Given the description of an element on the screen output the (x, y) to click on. 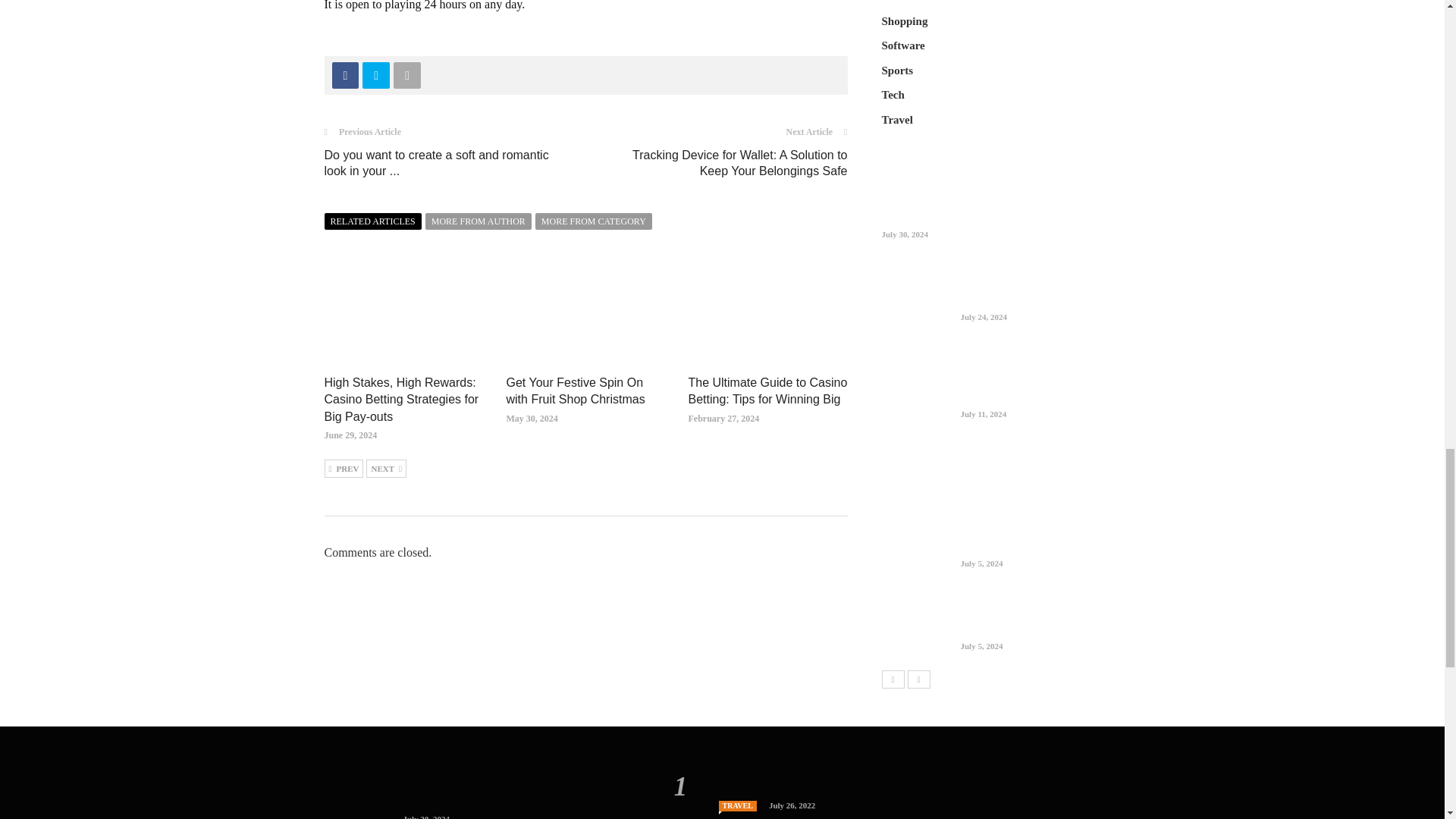
MORE FROM AUTHOR (478, 221)
RELATED ARTICLES (373, 221)
Do you want to create a soft and romantic look in your ... (436, 162)
Previous (344, 468)
